Given the description of an element on the screen output the (x, y) to click on. 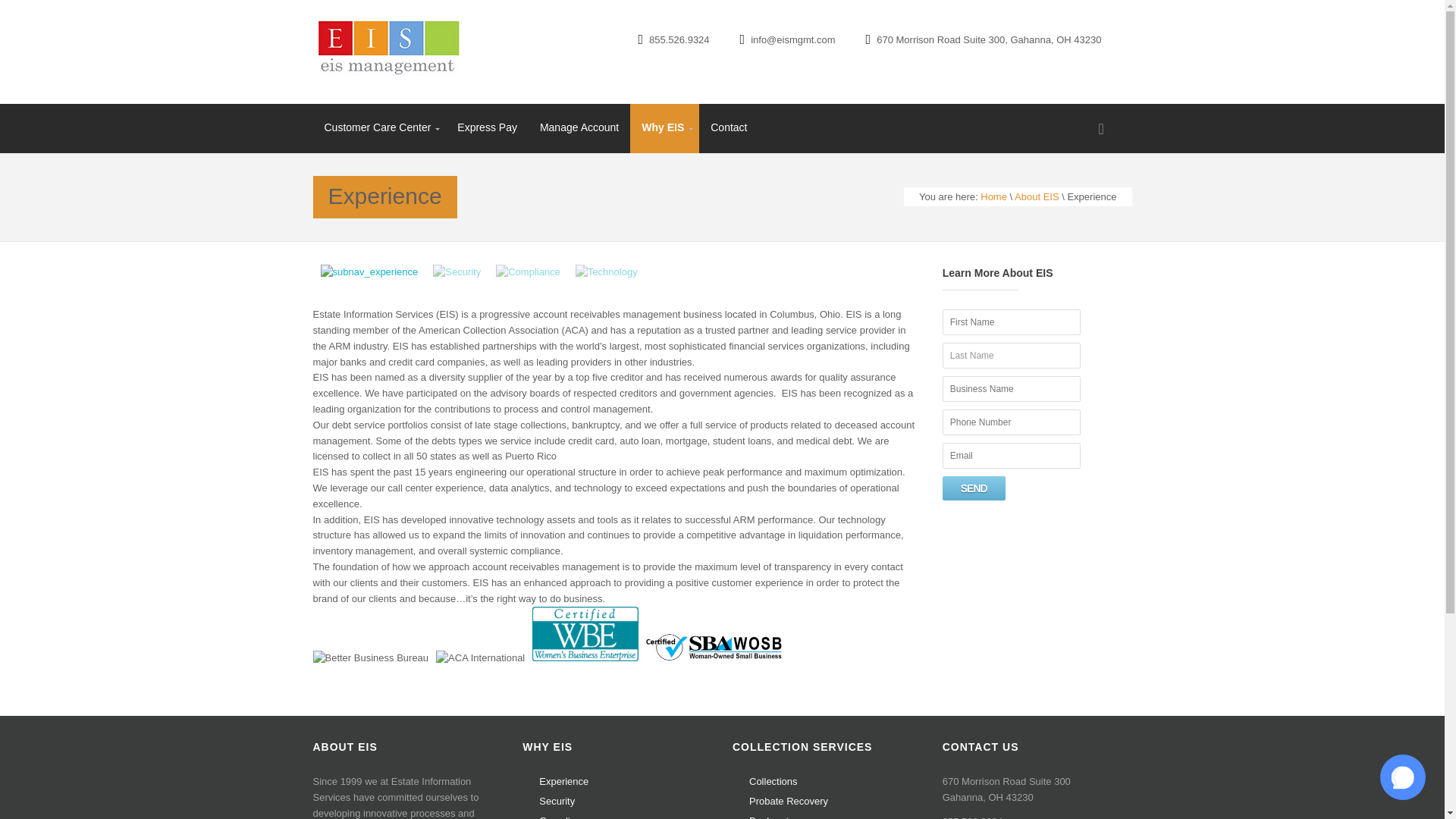
Send (974, 487)
Customer Care Center (379, 128)
Why EIS (664, 128)
Experience (369, 271)
Home (993, 196)
Security (556, 800)
Contact (728, 128)
Search (21, 7)
Express Pay (486, 128)
Bankruptcy (773, 816)
